Given the description of an element on the screen output the (x, y) to click on. 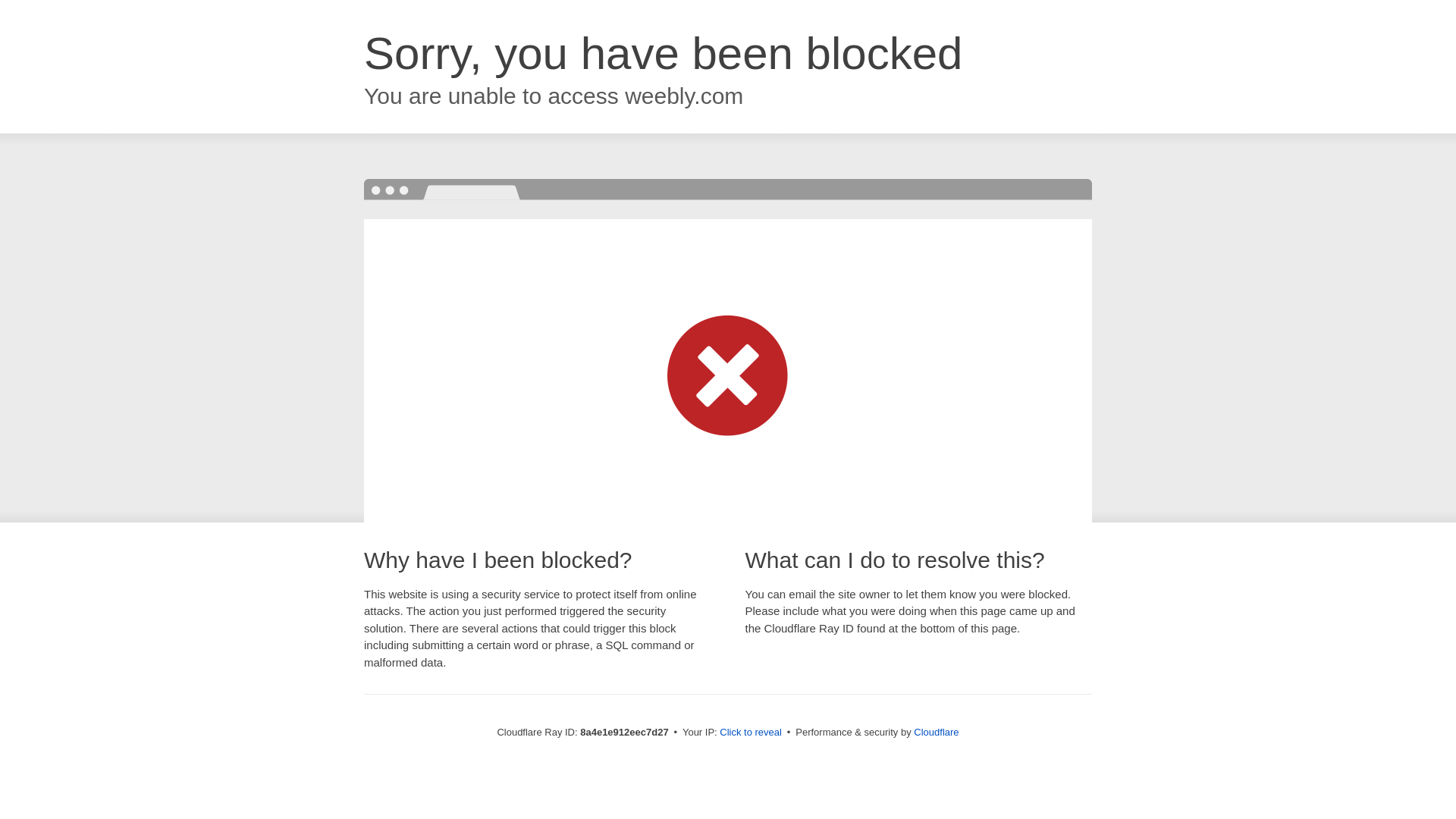
Cloudflare (936, 731)
Click to reveal (750, 732)
